Given the description of an element on the screen output the (x, y) to click on. 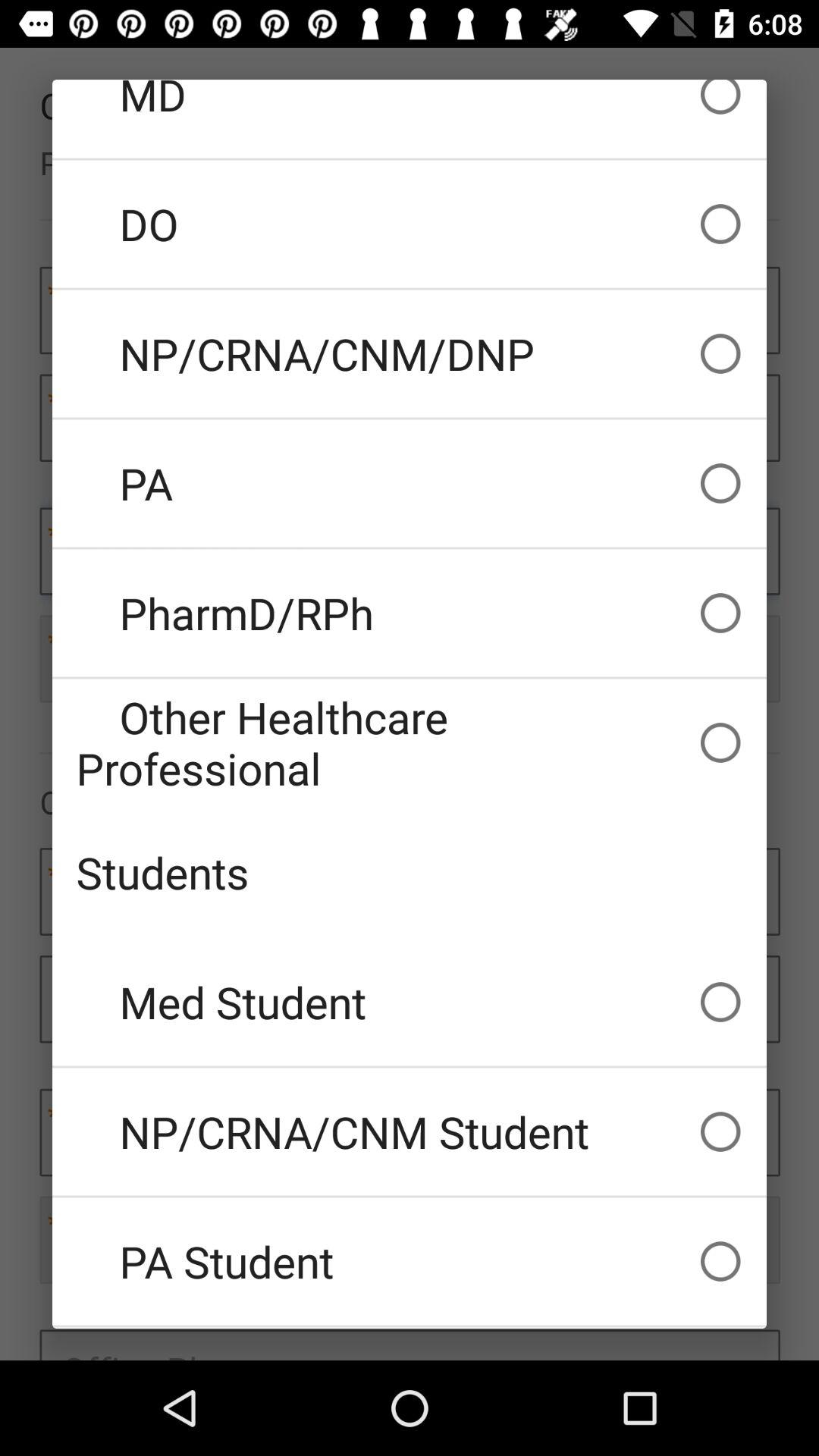
turn off the item below     pa item (409, 612)
